Given the description of an element on the screen output the (x, y) to click on. 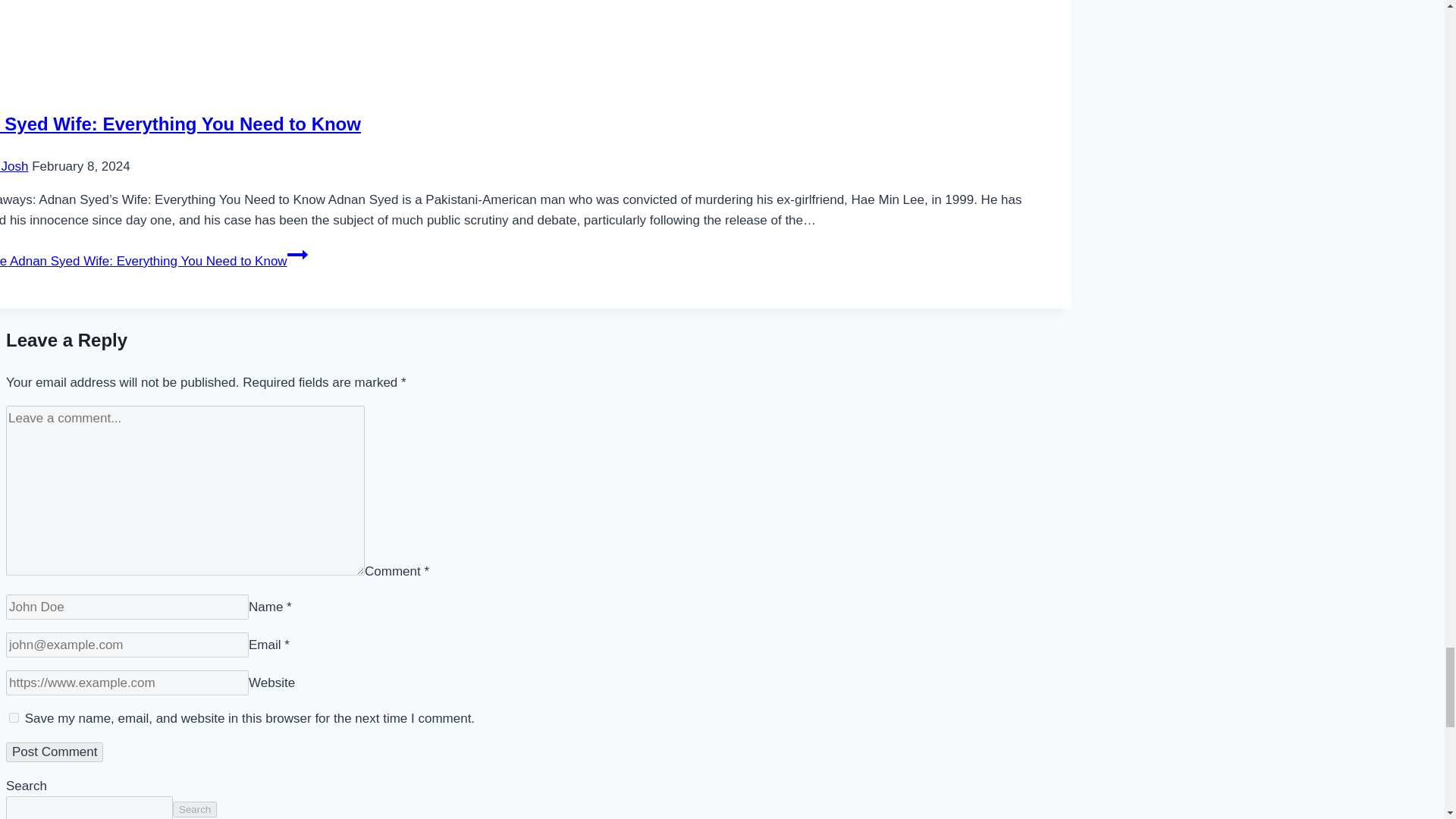
Post Comment (54, 752)
Continue (296, 254)
yes (13, 717)
